Given the description of an element on the screen output the (x, y) to click on. 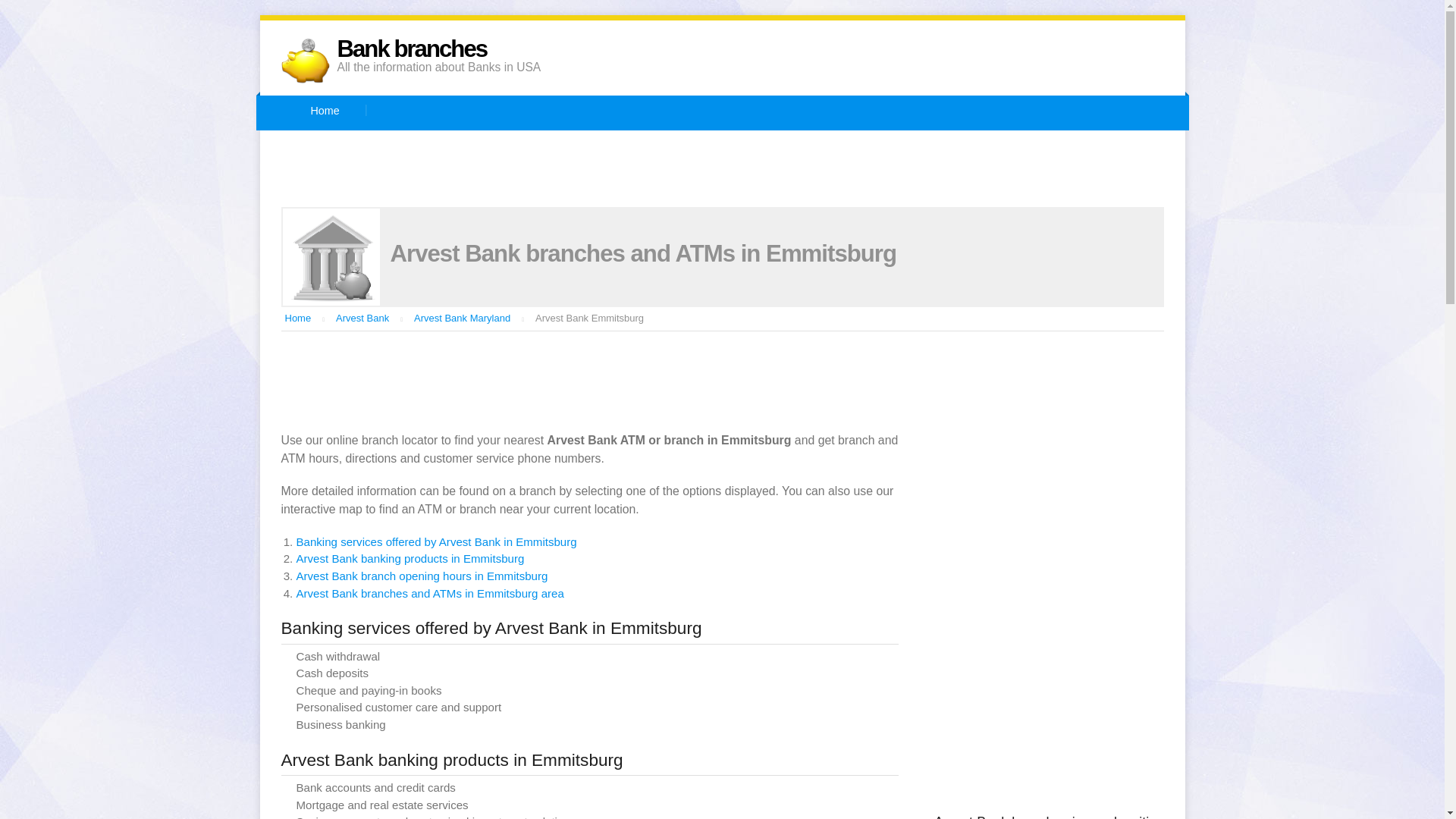
Home (298, 317)
Wells Fargo Bank (833, 187)
Bank of America (521, 149)
Fifth Third Bank (856, 149)
Arvest Bank branches and ATMs in Emmitsburg area (429, 593)
SunTrust Bank (496, 187)
Arvest Bank banking products in Emmitsburg (409, 558)
U.S. Bank (710, 187)
Wells Fargo Bank (833, 187)
SunTrust Bank (496, 187)
